Given the description of an element on the screen output the (x, y) to click on. 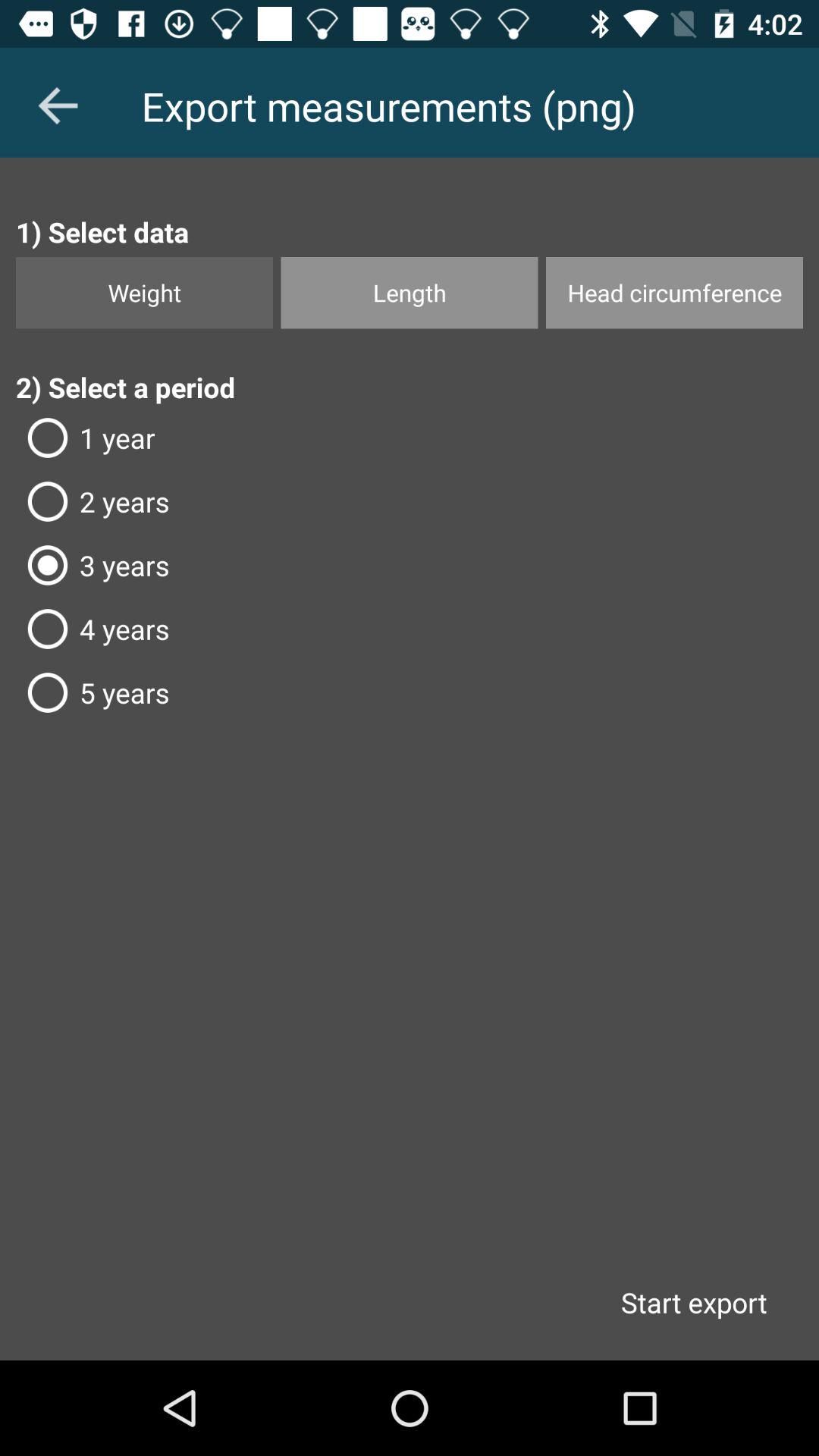
tap the icon below the 1 year item (409, 501)
